Given the description of an element on the screen output the (x, y) to click on. 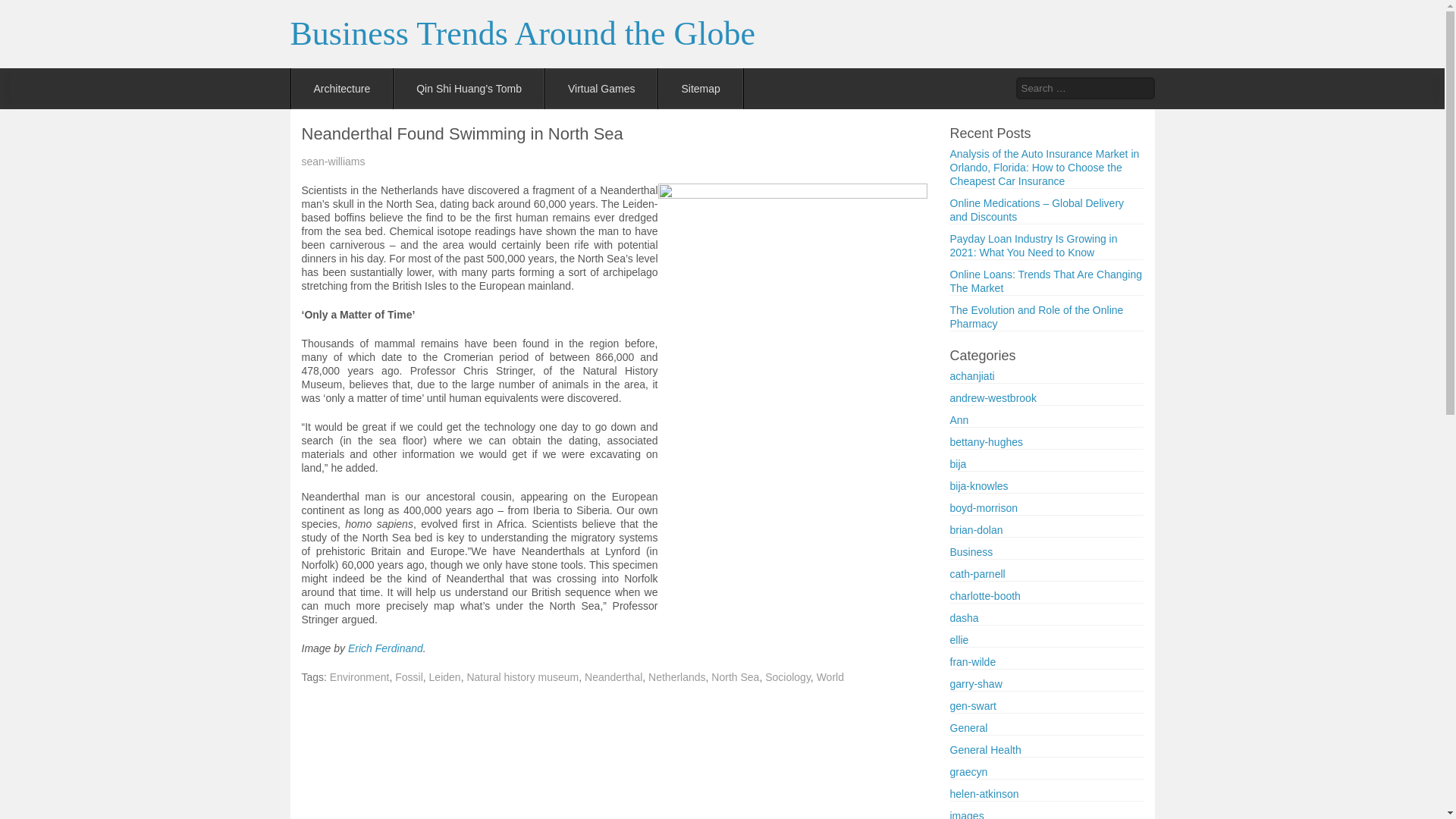
Natural history museum (521, 676)
bija (957, 463)
Netherlands (676, 676)
Online Loans: Trends That Are Changing The Market (1045, 281)
Fossil (408, 676)
Business (970, 551)
dasha (963, 617)
Sociology (787, 676)
andrew-westbrook (992, 398)
Leiden (445, 676)
